Given the description of an element on the screen output the (x, y) to click on. 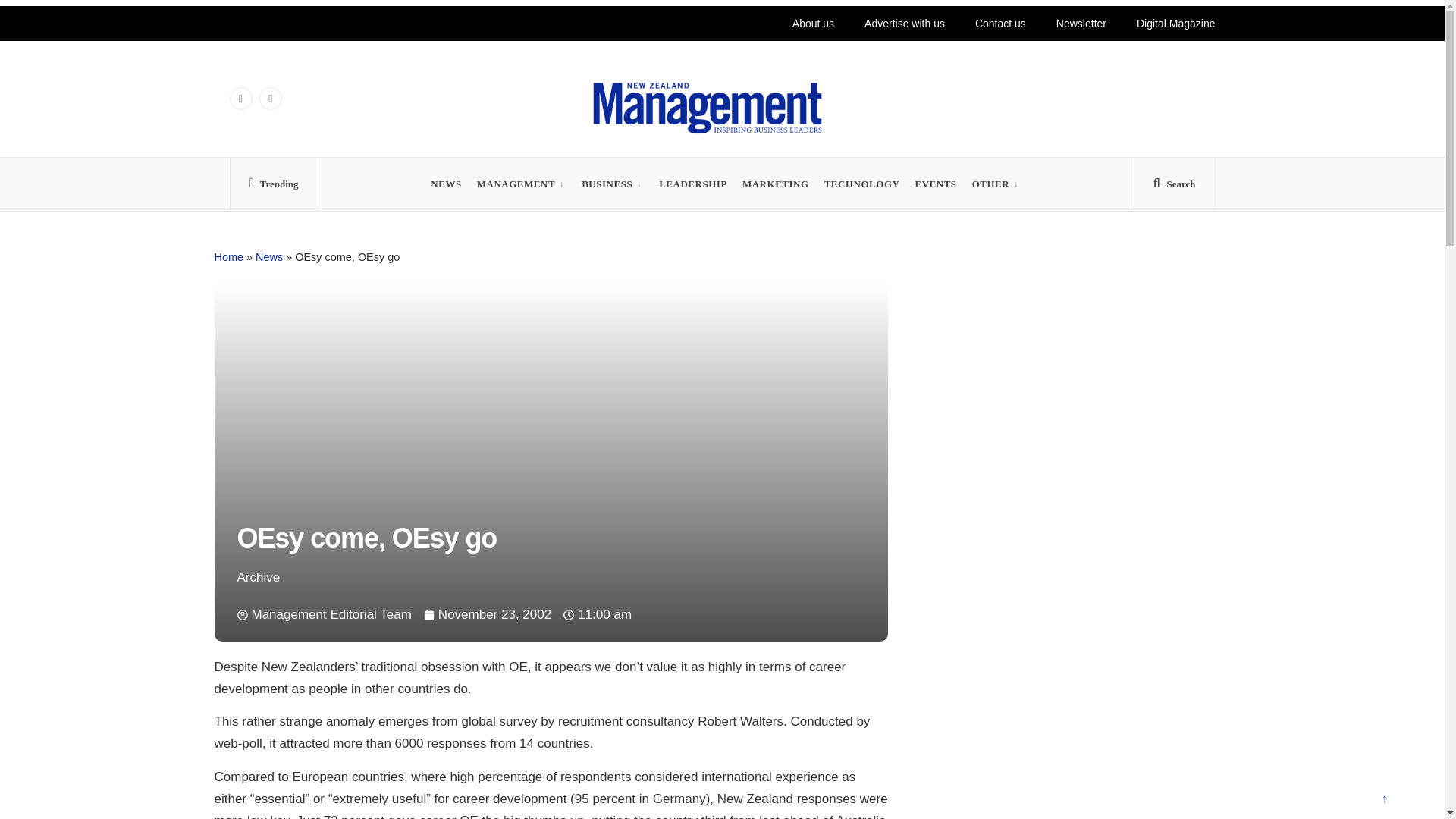
MANAGEMENT (515, 183)
EVENTS (935, 183)
Home (228, 256)
About us (777, 22)
Trending (273, 186)
TECHNOLOGY (861, 183)
Scroll to top (1384, 800)
Digital Magazine (1174, 22)
Search (1174, 186)
OTHER (991, 183)
MARKETING (775, 183)
NEWS (445, 183)
Contact us (988, 22)
BUSINESS (605, 183)
Advertise with us (884, 22)
